Given the description of an element on the screen output the (x, y) to click on. 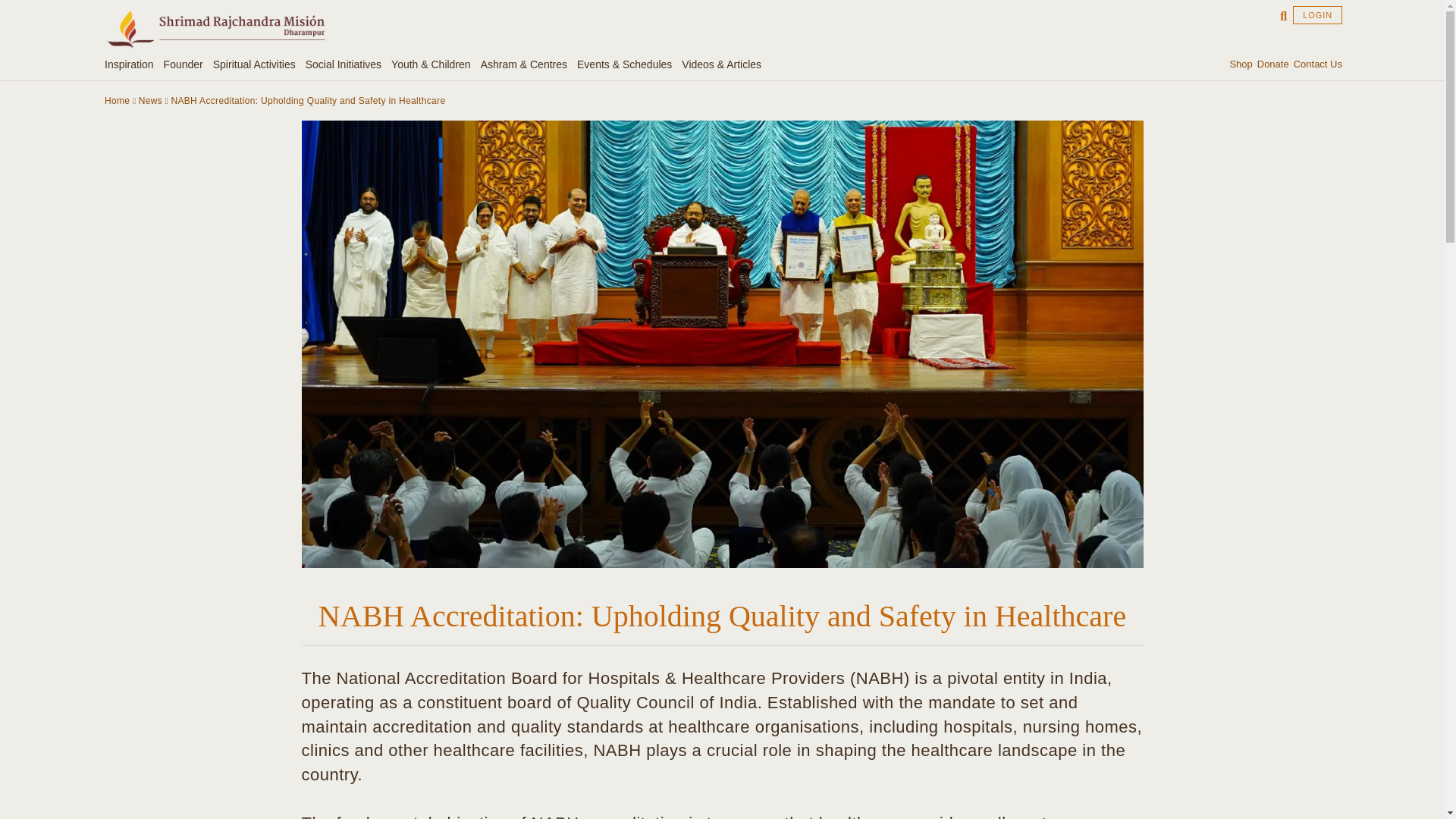
Login (1317, 14)
Shrimad Rajchandra Mission Dharampur (215, 28)
Spiritual Activities (256, 64)
Founder (185, 64)
Inspiration (131, 64)
LOGIN (1317, 14)
